Given the description of an element on the screen output the (x, y) to click on. 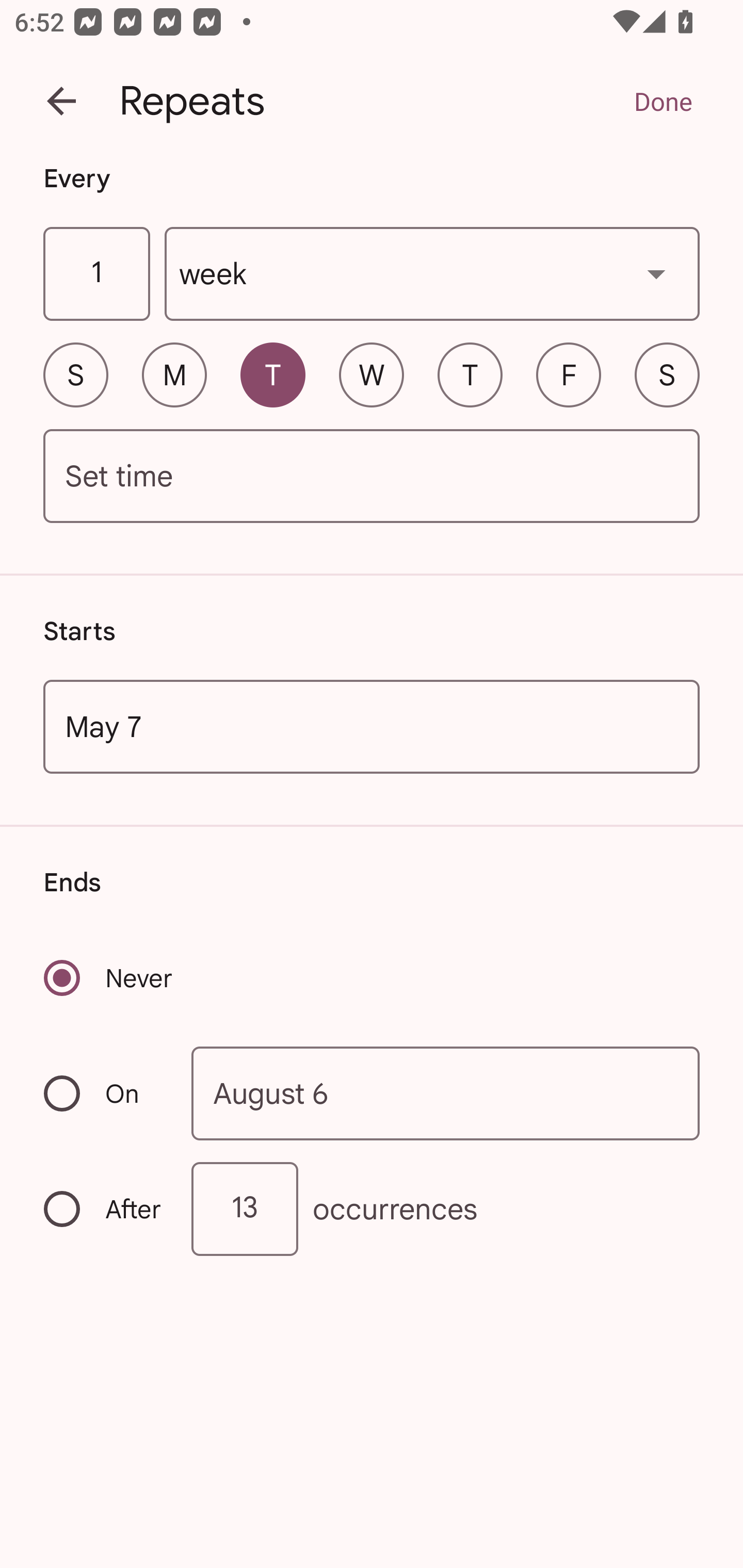
Back (61, 101)
Done (663, 101)
1 (96, 274)
week (431, 274)
Show dropdown menu (655, 273)
S Sunday (75, 374)
M Monday (173, 374)
T Tuesday, selected (272, 374)
W Wednesday (371, 374)
T Thursday (469, 374)
F Friday (568, 374)
S Saturday (666, 374)
Set time (371, 476)
May 7 (371, 726)
Never Recurrence never ends (109, 978)
August 6 (445, 1092)
On Recurrence ends on a specific date (104, 1093)
13 (244, 1208)
